Given the description of an element on the screen output the (x, y) to click on. 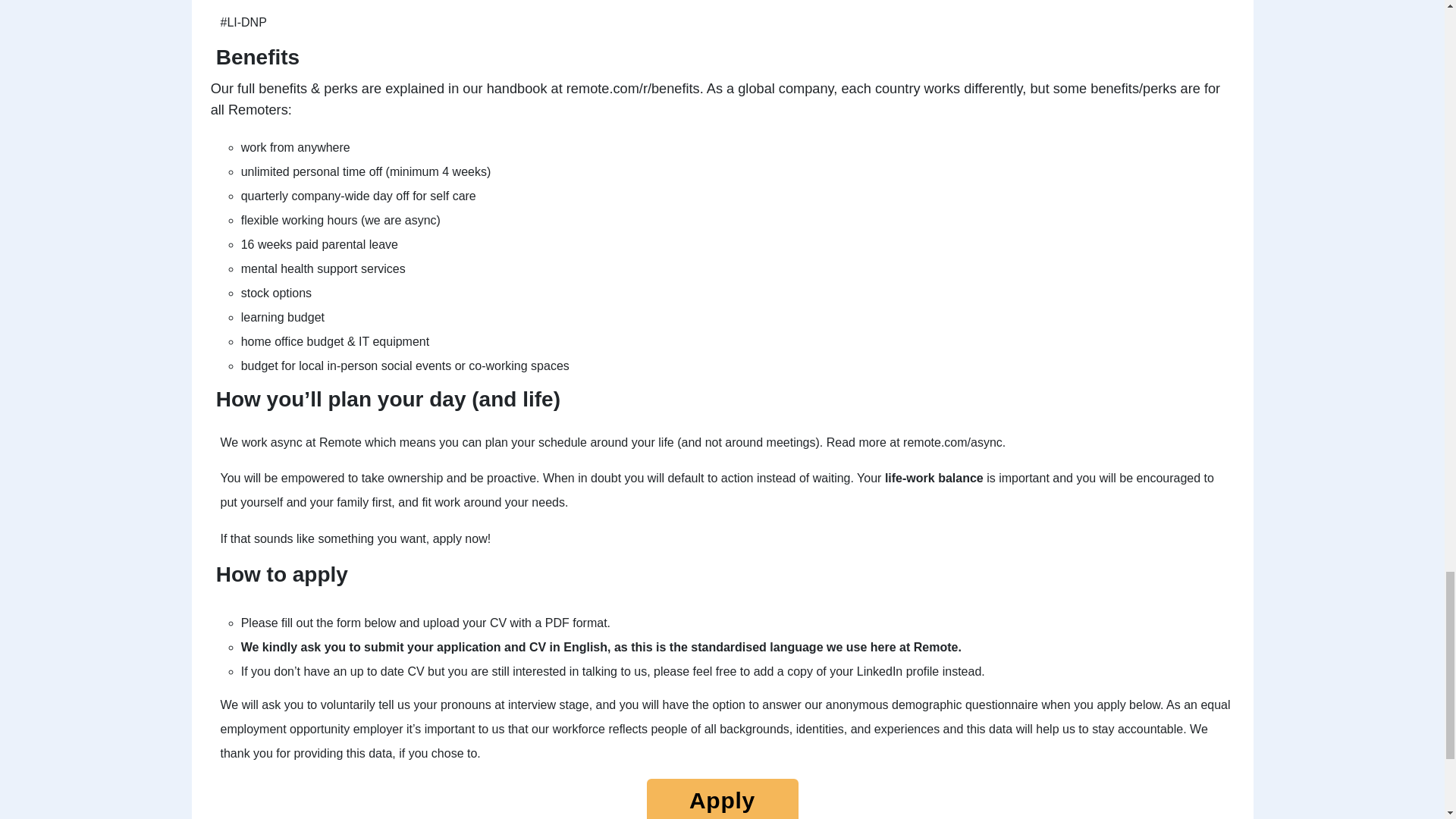
async (420, 219)
Apply (721, 804)
Apply (721, 798)
